Given the description of an element on the screen output the (x, y) to click on. 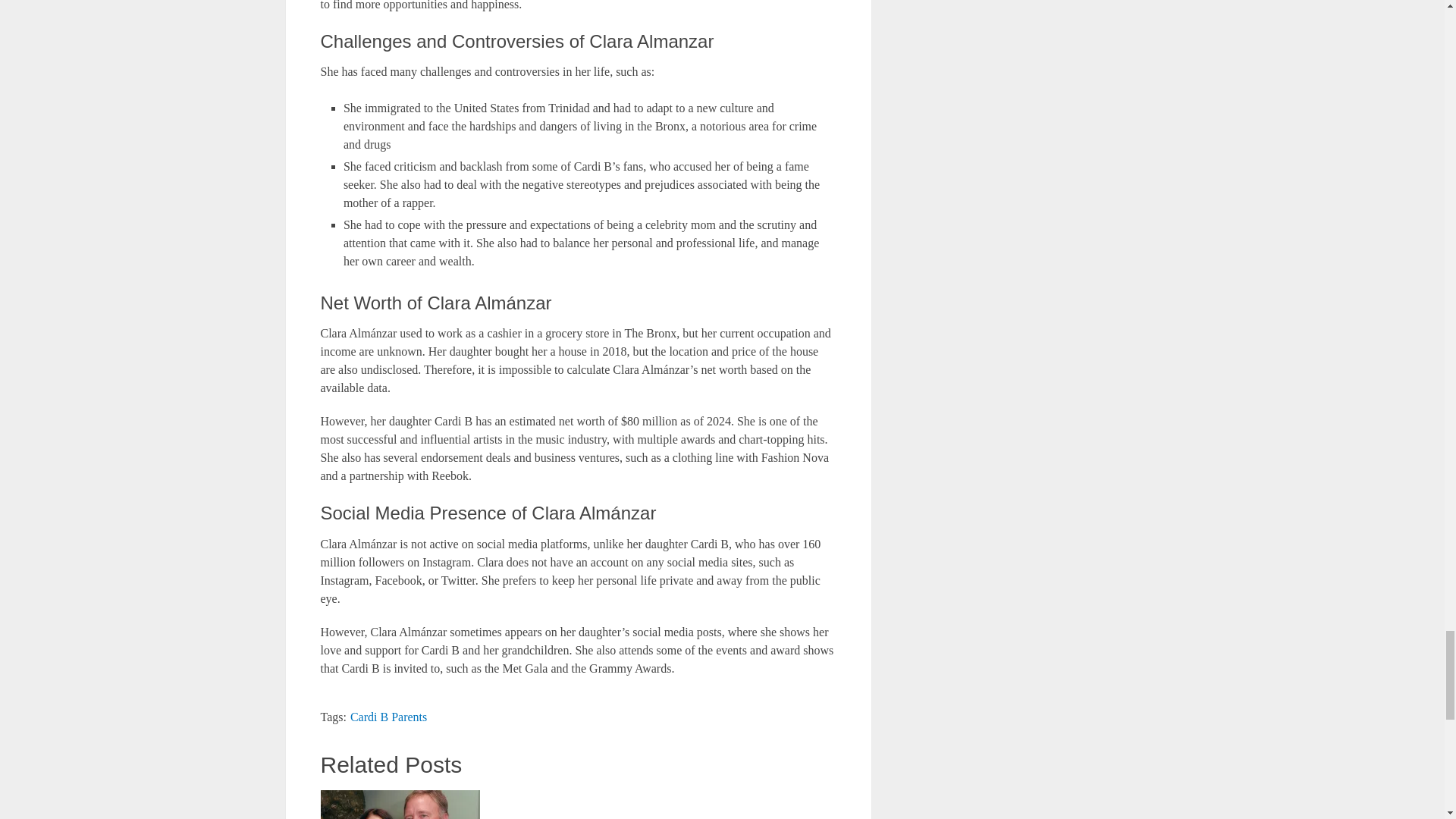
Cardi B Parents (388, 716)
